Given the description of an element on the screen output the (x, y) to click on. 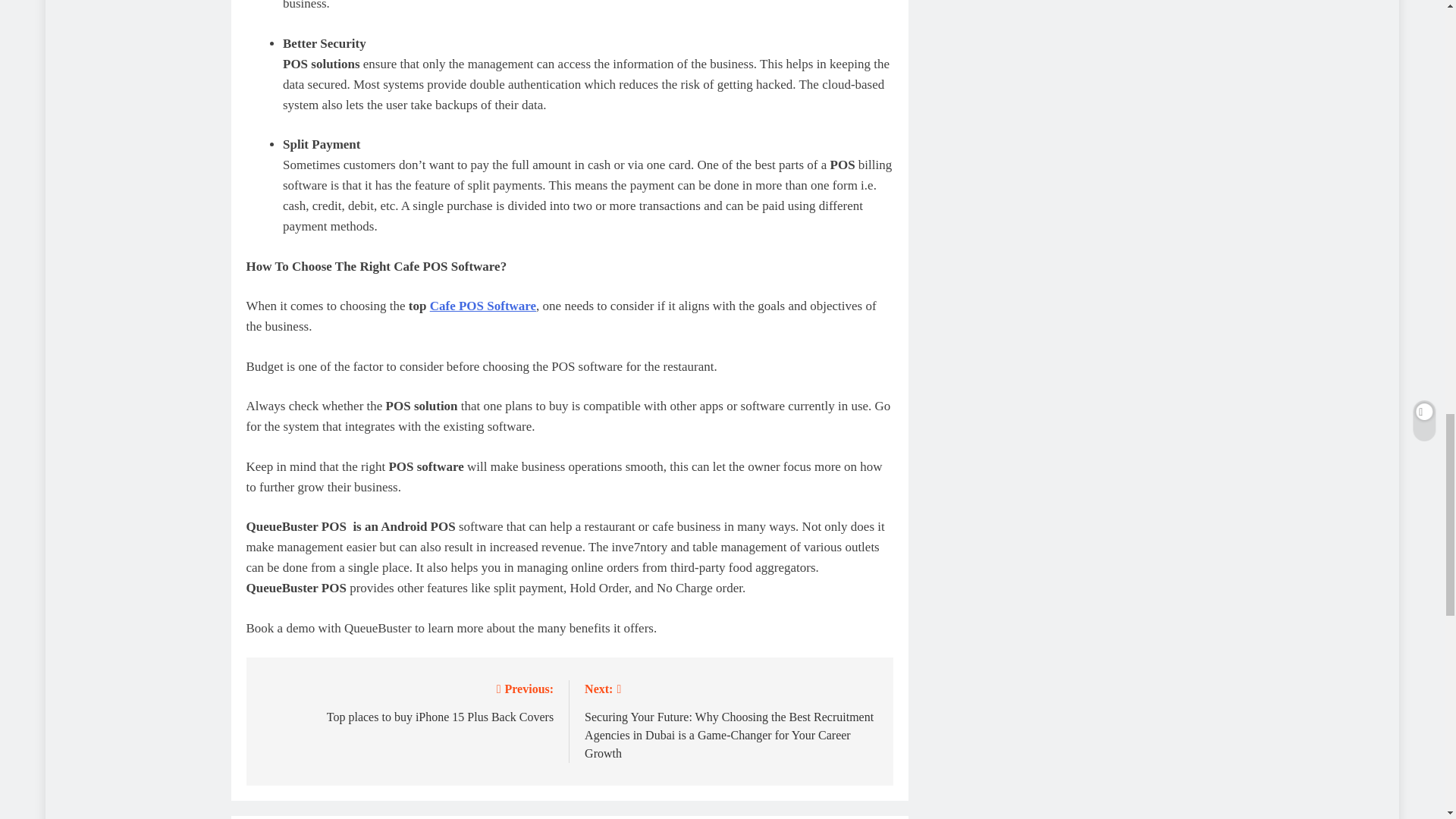
Cafe POS Software (406, 701)
